Given the description of an element on the screen output the (x, y) to click on. 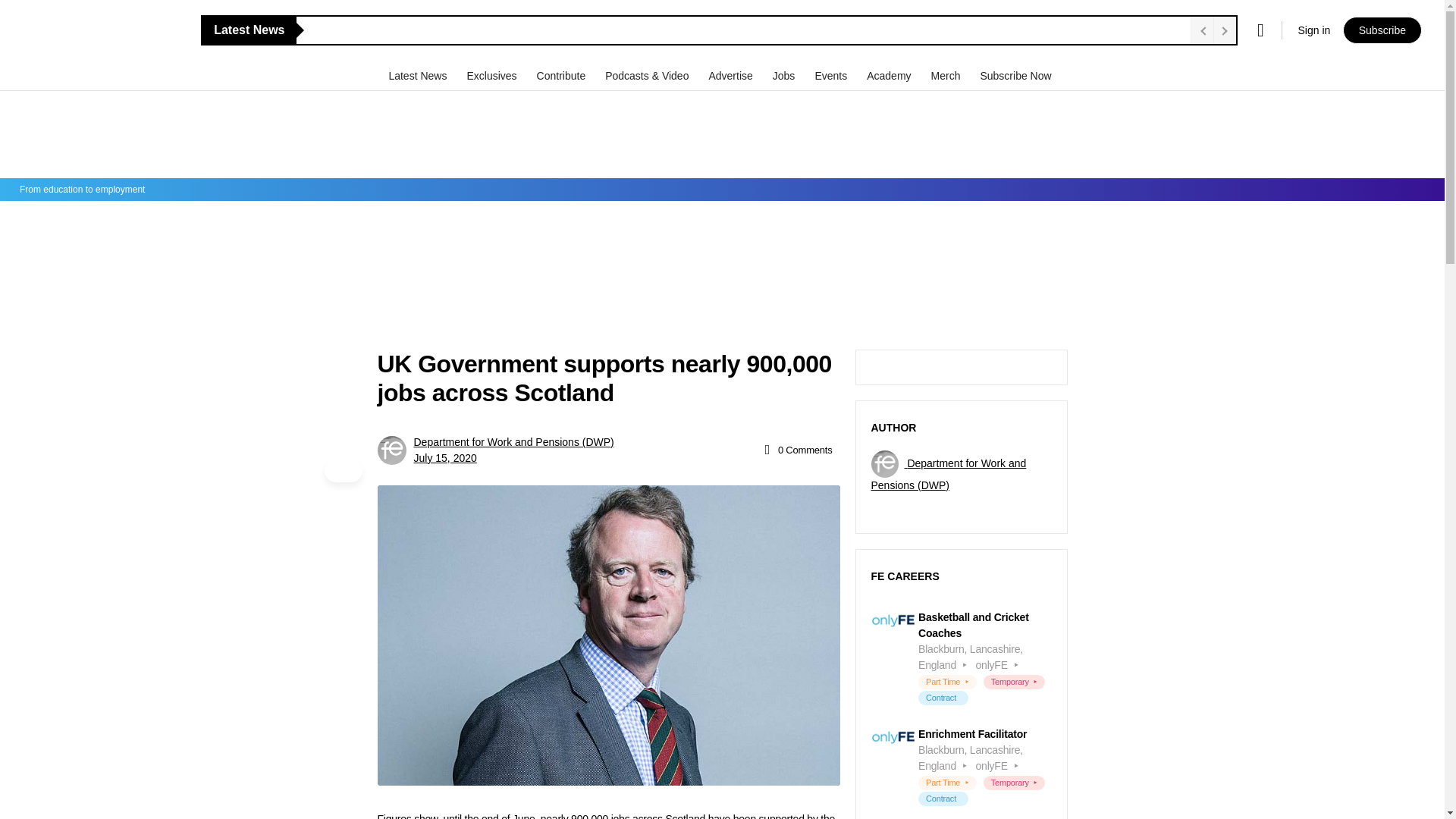
Latest News (419, 75)
Subscribe (1382, 30)
Sign in (1313, 30)
Exclusives (493, 75)
